Given the description of an element on the screen output the (x, y) to click on. 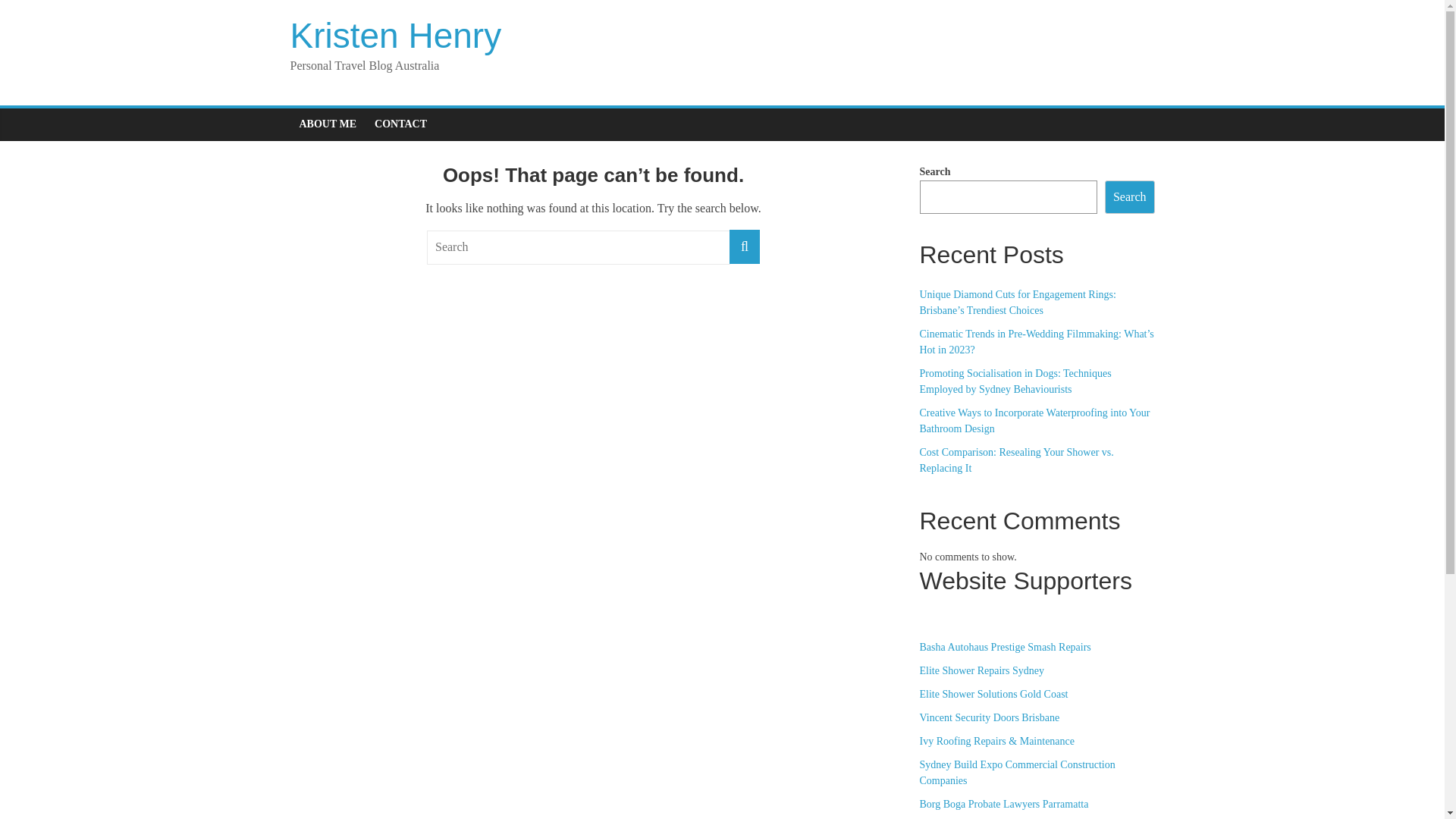
Search Element type: text (1129, 196)
Ivy Roofing Repairs & Maintenance Element type: text (996, 740)
Sydney Build Expo Commercial Construction Companies Element type: text (1016, 772)
Kristen Henry Element type: text (395, 35)
Elite Shower Solutions Gold Coast Element type: text (993, 693)
ABOUT ME Element type: text (327, 124)
CONTACT Element type: text (400, 124)
Vincent Security Doors Brisbane Element type: text (989, 717)
Cost Comparison: Resealing Your Shower vs. Replacing It Element type: text (1016, 459)
Borg Boga Probate Lawyers Parramatta Element type: text (1003, 803)
Elite Shower Repairs Sydney Element type: text (981, 670)
Basha Autohaus Prestige Smash Repairs Element type: text (1004, 646)
